Given the description of an element on the screen output the (x, y) to click on. 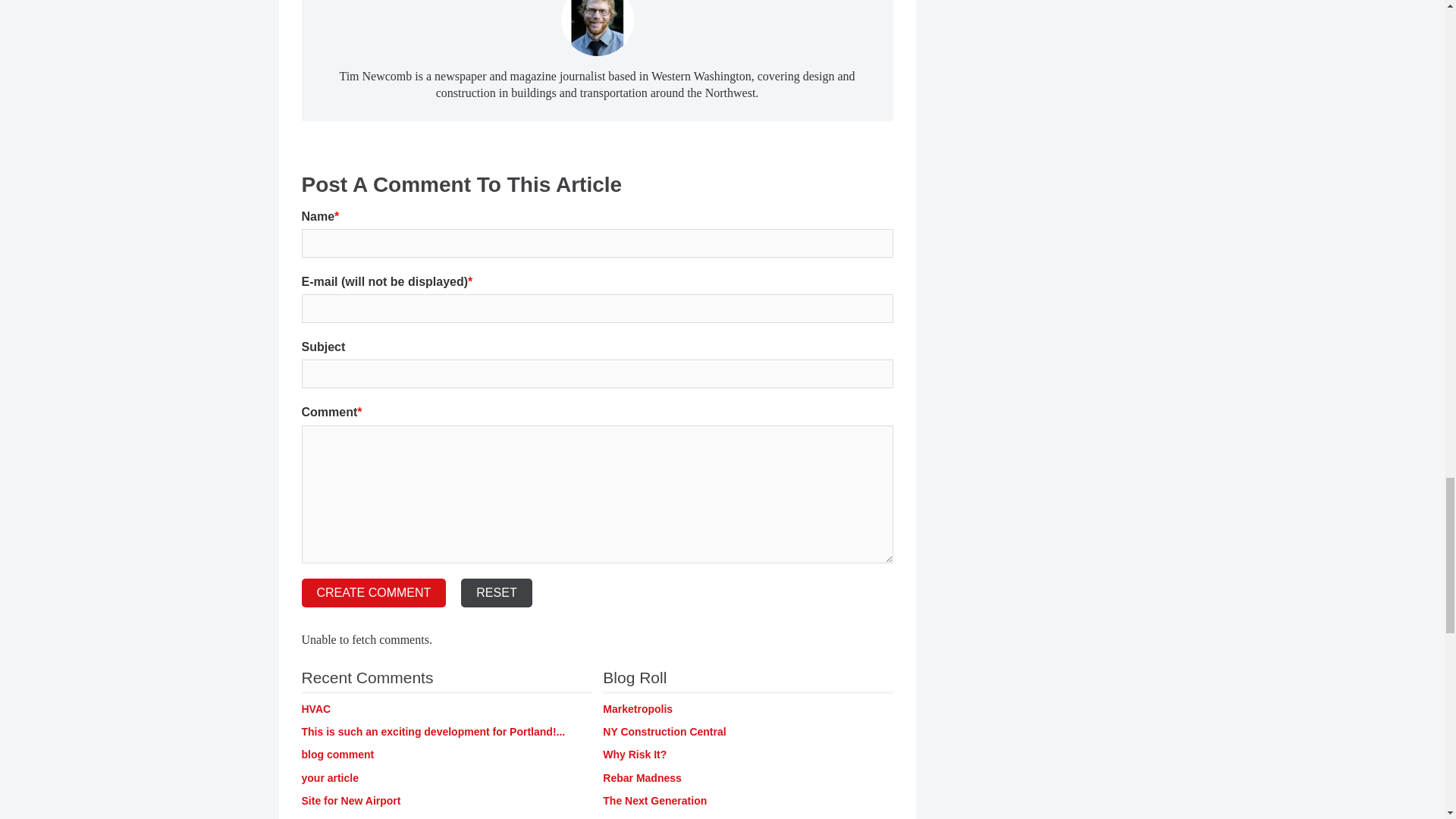
Reset (496, 592)
The Next Generation (654, 800)
NY Construction Central (663, 731)
Why Risk It? (634, 754)
Rebar Madness (641, 777)
State Route 99 Tunnel: One Year Later (329, 777)
Create Comment (373, 592)
Marketropolis (637, 708)
